Given the description of an element on the screen output the (x, y) to click on. 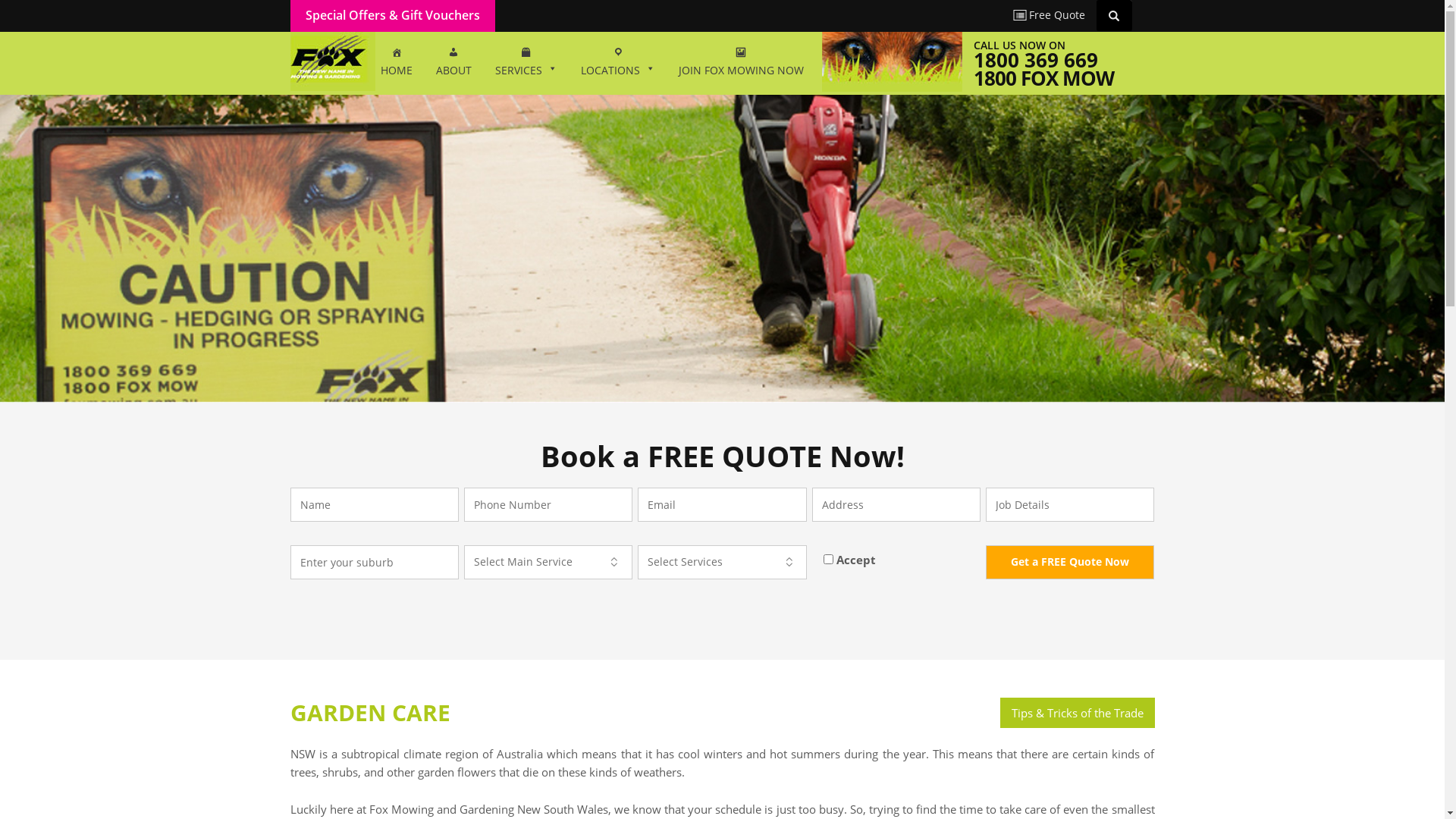
JOIN FOX MOWING NOW Element type: text (741, 62)
ABOUT Element type: text (453, 62)
Free Quote Element type: text (1050, 14)
HOME Element type: text (395, 62)
SERVICES Element type: text (525, 62)
Rechercher Element type: text (1116, 15)
Get a FREE Quote Now Element type: text (1069, 562)
Tips & Tricks of the Trade Element type: text (1076, 712)
1800 369 669 Element type: text (1035, 59)
LOCATIONS Element type: text (616, 62)
Special Offers & Gift Vouchers Element type: text (391, 14)
1800 FOX MOW Element type: text (1043, 77)
